Given the description of an element on the screen output the (x, y) to click on. 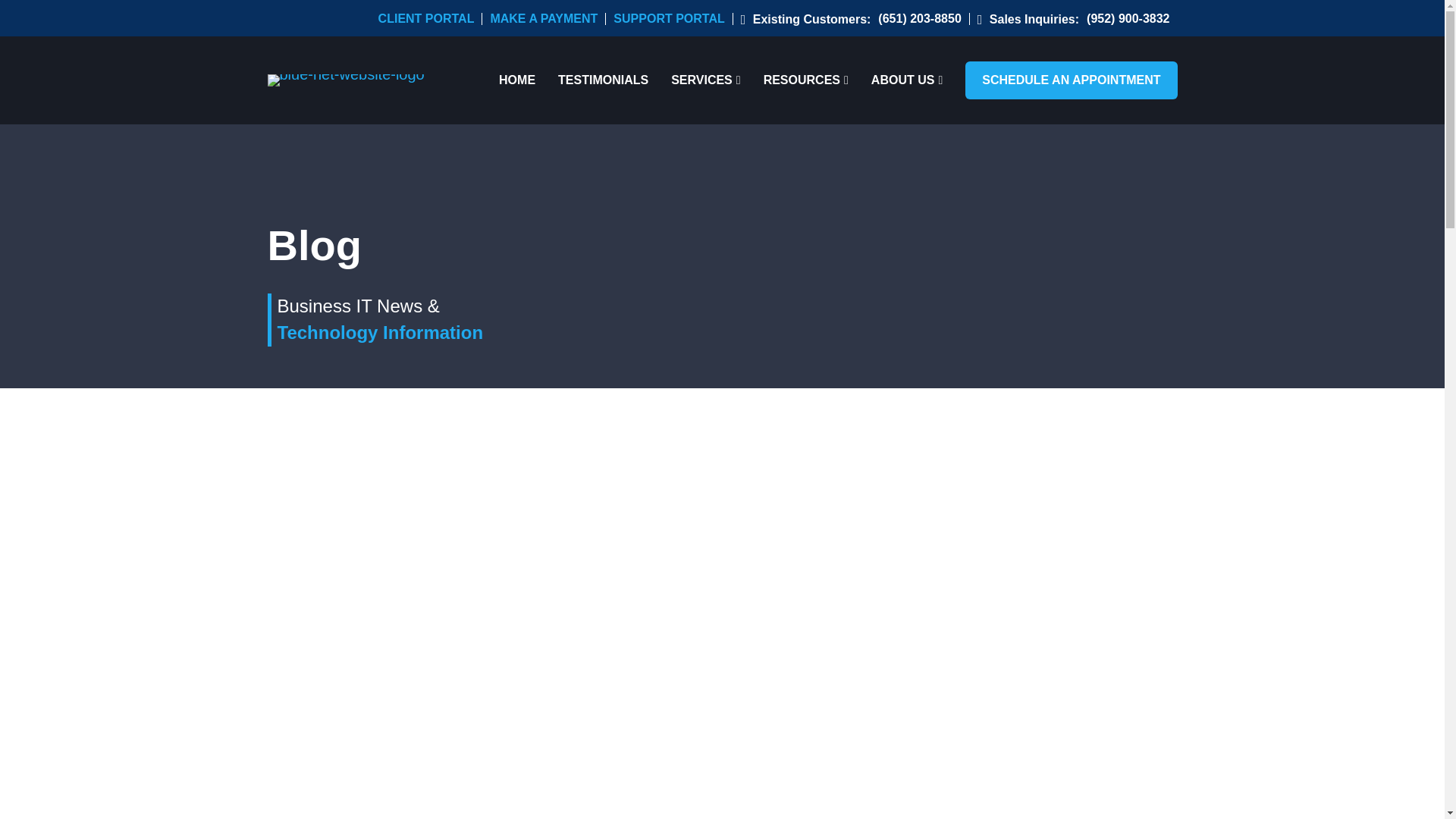
SCHEDULE AN APPOINTMENT (1070, 80)
SUPPORT PORTAL (672, 19)
MAKE A PAYMENT (547, 19)
blue-net-website-logo (344, 80)
SERVICES (705, 79)
Existing Customers: (805, 19)
TESTIMONIALS (602, 79)
CLIENT PORTAL (430, 19)
Sales Inquiries: (1027, 19)
ABOUT US (906, 79)
